Given the description of an element on the screen output the (x, y) to click on. 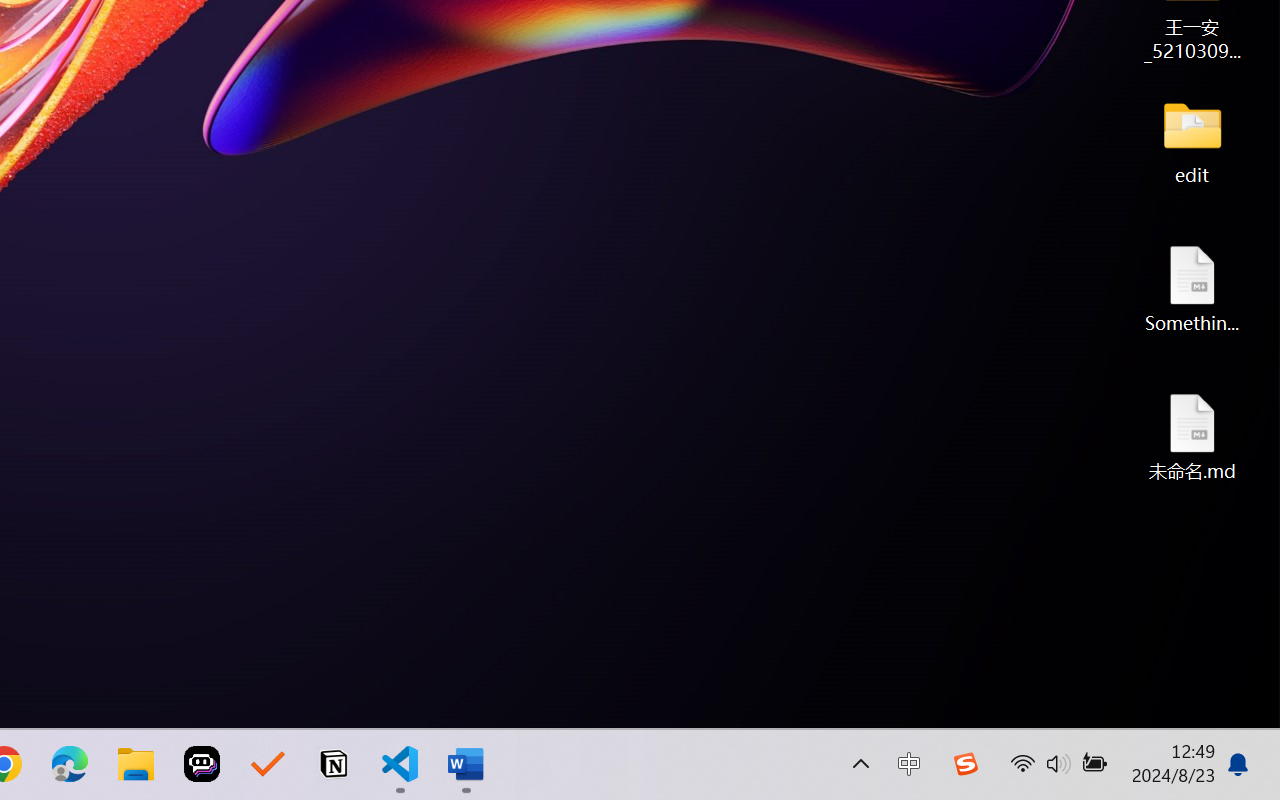
Something.md (1192, 288)
edit (1192, 140)
